Given the description of an element on the screen output the (x, y) to click on. 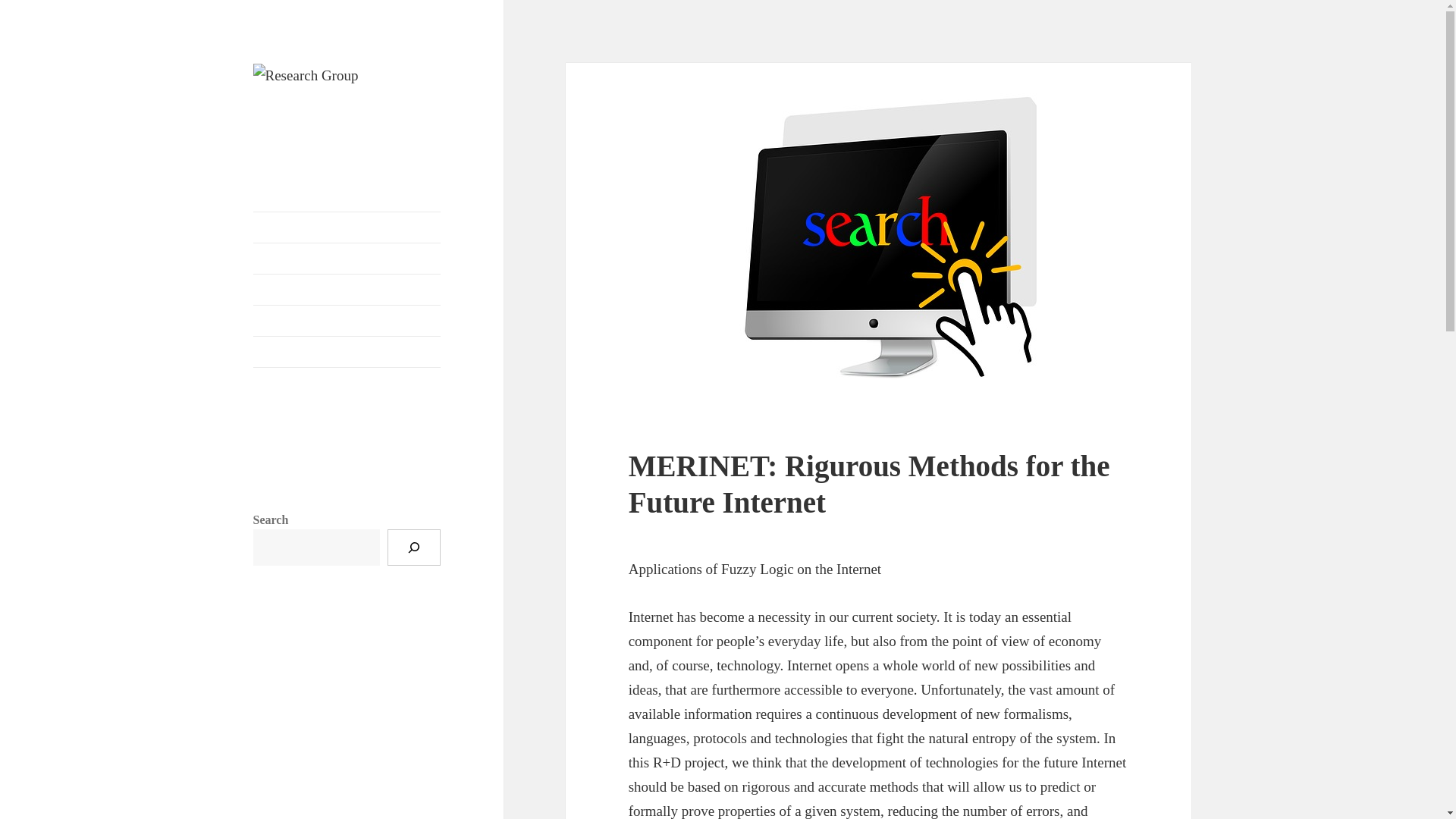
Members (347, 258)
Projects (347, 289)
Home (347, 227)
Research Group (332, 111)
Publications (347, 320)
twitter (271, 447)
